Given the description of an element on the screen output the (x, y) to click on. 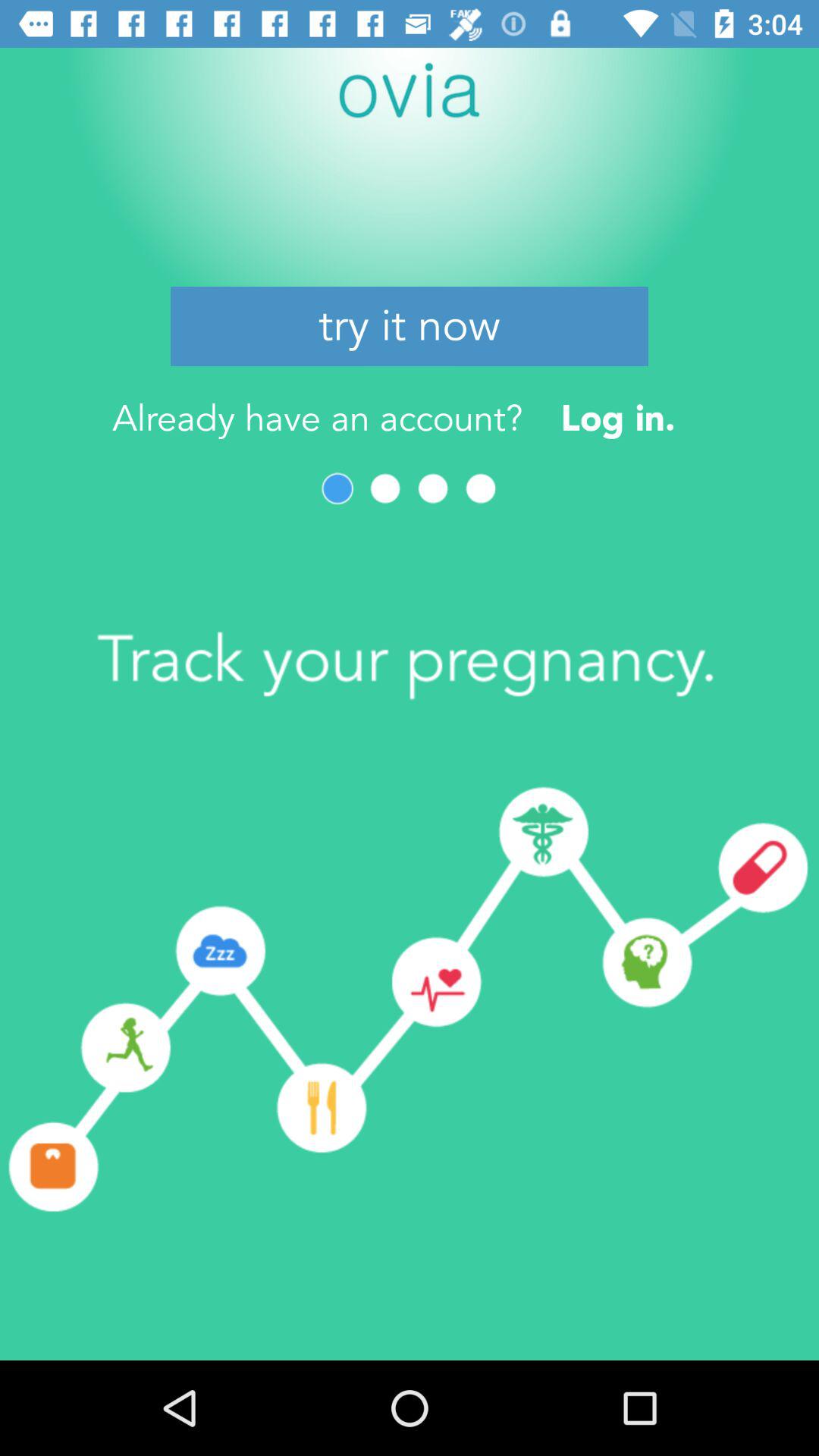
turn on icon next to already have an item (617, 417)
